Given the description of an element on the screen output the (x, y) to click on. 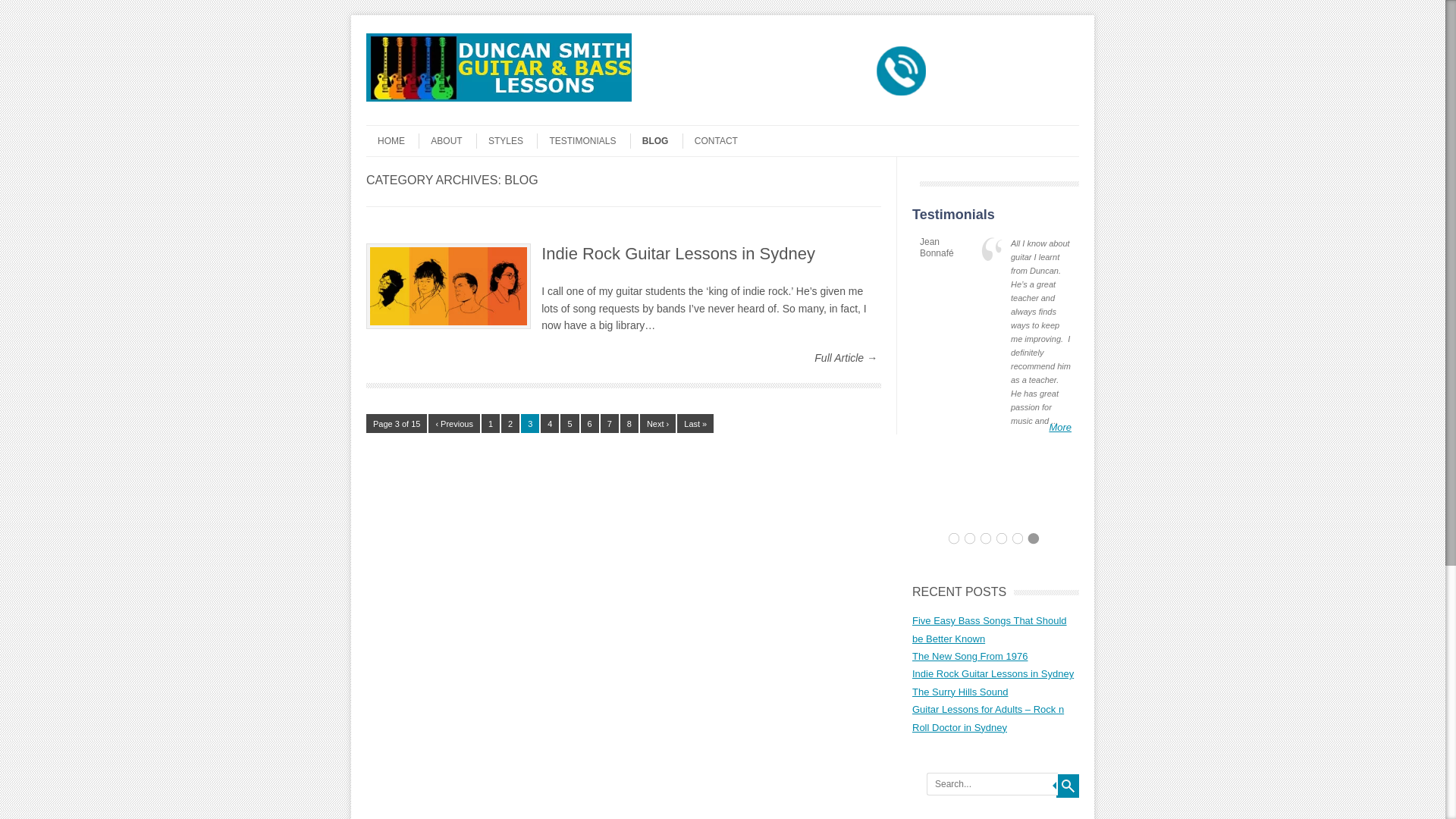
HOME Element type: text (385, 140)
7 Element type: text (609, 423)
Search Element type: text (1067, 785)
TESTIMONIALS Element type: text (575, 140)
5 Element type: text (569, 423)
8 Element type: text (629, 423)
4 Element type: text (549, 423)
1 Element type: text (490, 423)
Indie Rock Guitar Lessons in Sydney Element type: text (992, 673)
BLOG Element type: text (649, 140)
2 Element type: text (510, 423)
6 Element type: text (589, 423)
STYLES Element type: text (499, 140)
Five Easy Bass Songs That Should be Better Known Element type: text (989, 629)
Skip to content Element type: text (396, 130)
CONTACT Element type: text (709, 140)
Duncan Smith Guitars Element type: hover (498, 97)
ABOUT Element type: text (439, 140)
The Surry Hills Sound Element type: text (959, 691)
The New Song From 1976 Element type: text (969, 656)
Indie Rock Guitar Lessons in Sydney Element type: text (678, 253)
